Given the description of an element on the screen output the (x, y) to click on. 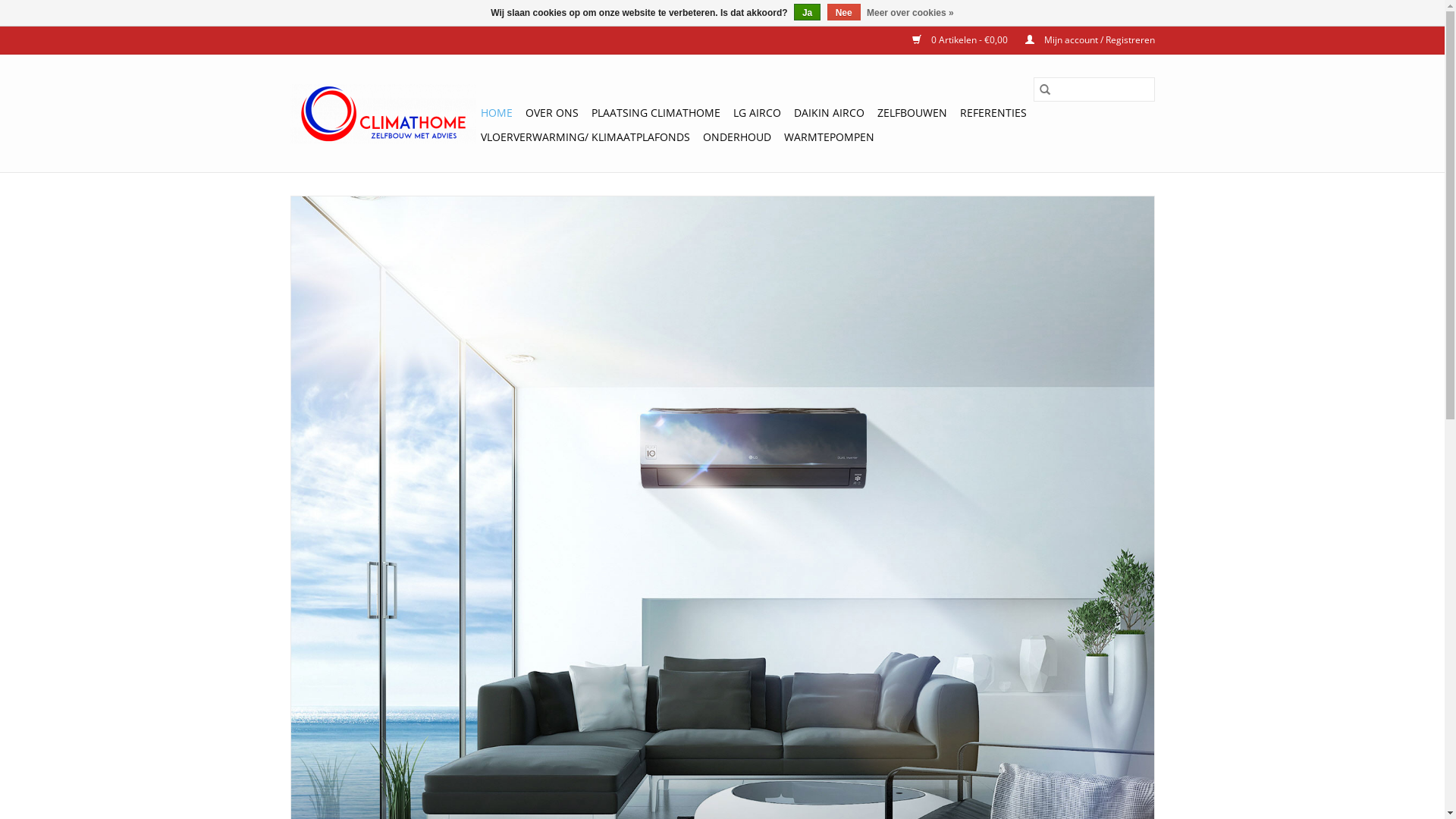
PLAATSING CLIMATHOME Element type: text (655, 112)
Zoeken Element type: hover (1043, 89)
VLOERVERWARMING/ KLIMAATPLAFONDS Element type: text (585, 137)
OVER ONS Element type: text (551, 112)
Ja Element type: text (806, 11)
Nee Element type: text (843, 11)
Mijn account / Registreren Element type: text (1082, 39)
ONDERHOUD Element type: text (736, 137)
LG AIRCO Element type: text (756, 112)
DAIKIN AIRCO Element type: text (828, 112)
ZELFBOUWEN Element type: text (911, 112)
REFERENTIES Element type: text (993, 112)
WARMTEPOMPEN Element type: text (828, 137)
HOME Element type: text (496, 112)
